Given the description of an element on the screen output the (x, y) to click on. 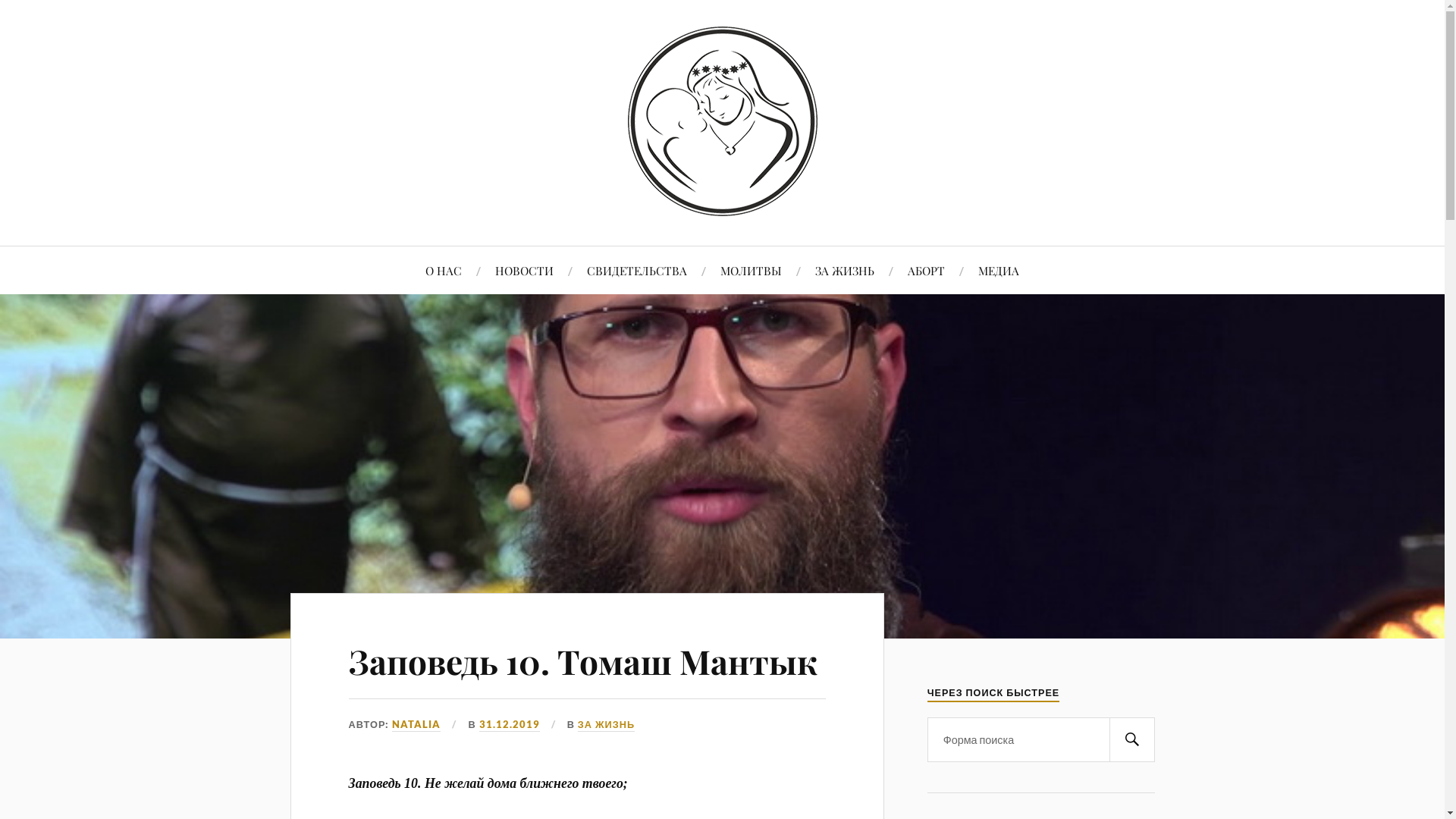
31.12.2019 Element type: text (509, 724)
NATALIA Element type: text (416, 724)
